Given the description of an element on the screen output the (x, y) to click on. 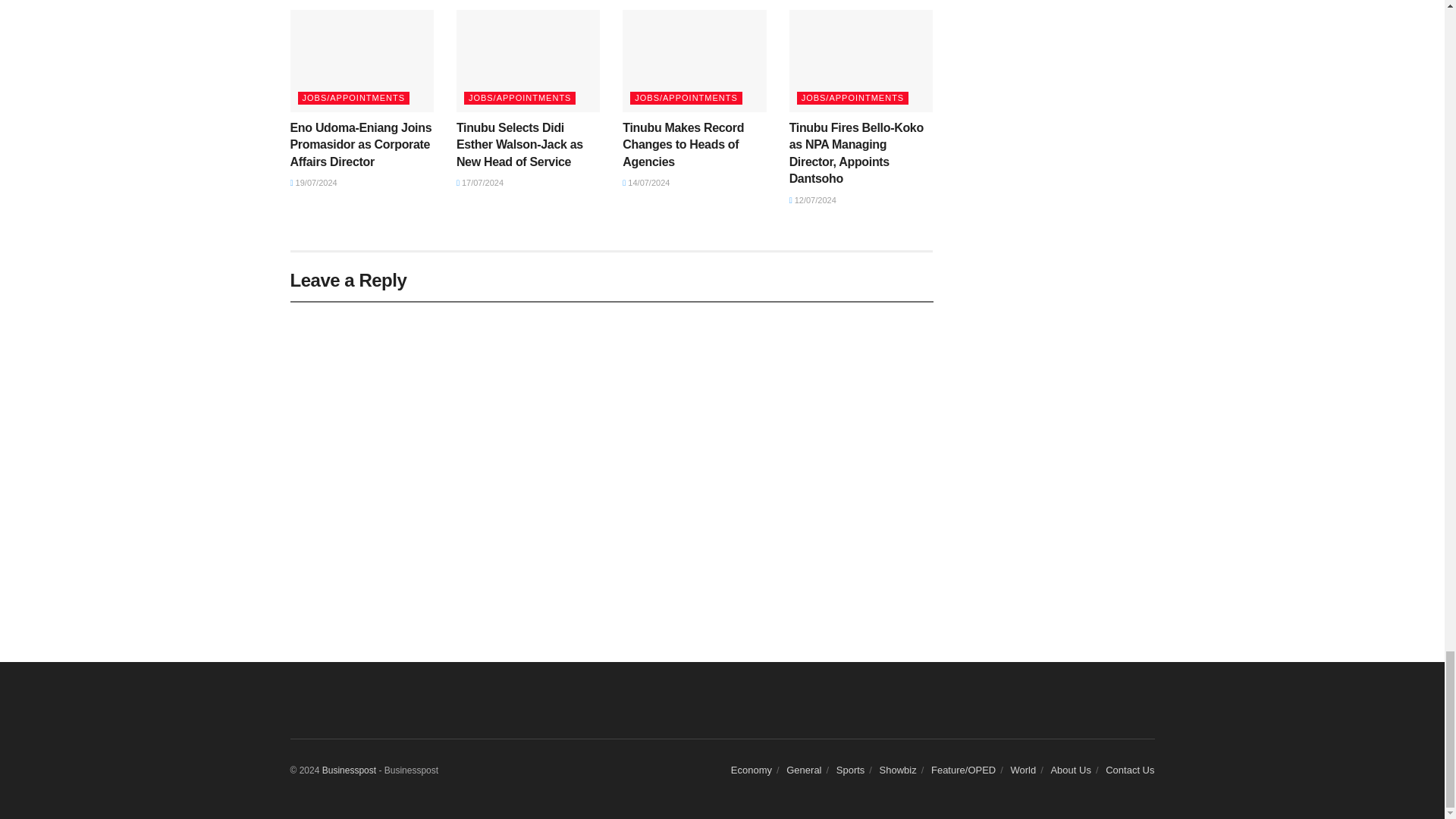
Businesspost (348, 769)
